Given the description of an element on the screen output the (x, y) to click on. 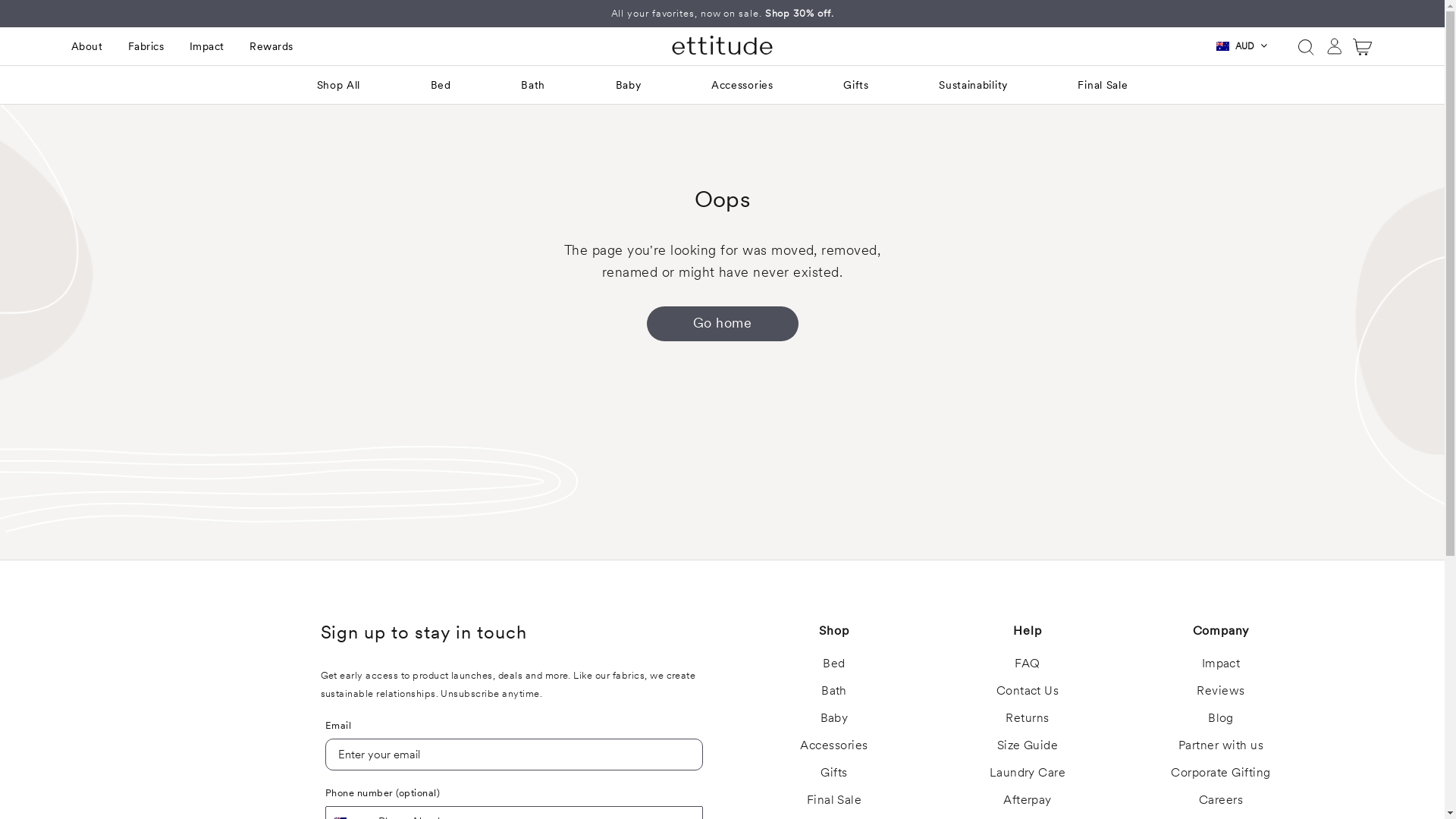
Baby Element type: text (628, 84)
Final Sale Element type: text (1102, 84)
Sustainability Element type: text (973, 84)
Cart Element type: hover (1362, 46)
Final Sale Element type: text (834, 799)
Bed Element type: text (440, 84)
Go home Element type: text (721, 323)
All your favorites, now on sale. Shop 30% off. Element type: text (722, 13)
Bed Element type: text (833, 662)
Submit Element type: text (25, 9)
Partner with us Element type: text (1220, 744)
Gifts Element type: text (855, 84)
FAQ Element type: text (1026, 662)
Logo Element type: hover (721, 44)
Corporate Gifting Element type: text (1220, 771)
Afterpay Element type: text (1027, 799)
Size Guide Element type: text (1027, 744)
Bath Element type: text (532, 84)
Contact Us Element type: text (1027, 689)
Accessories Element type: text (833, 744)
Impact Element type: text (206, 46)
Impact Element type: text (1220, 662)
Fabrics Element type: text (145, 46)
Laundry Care Element type: text (1027, 771)
Gifts Element type: text (833, 771)
Accessories Element type: text (741, 84)
About Element type: text (86, 46)
Baby Element type: text (834, 717)
Rewards Element type: text (270, 46)
Reviews Element type: text (1220, 689)
Shop All Element type: text (338, 84)
Search Element type: hover (1304, 46)
Bath Element type: text (834, 689)
Careers Element type: text (1220, 799)
Blog Element type: text (1220, 717)
Returns Element type: text (1026, 717)
